Given the description of an element on the screen output the (x, y) to click on. 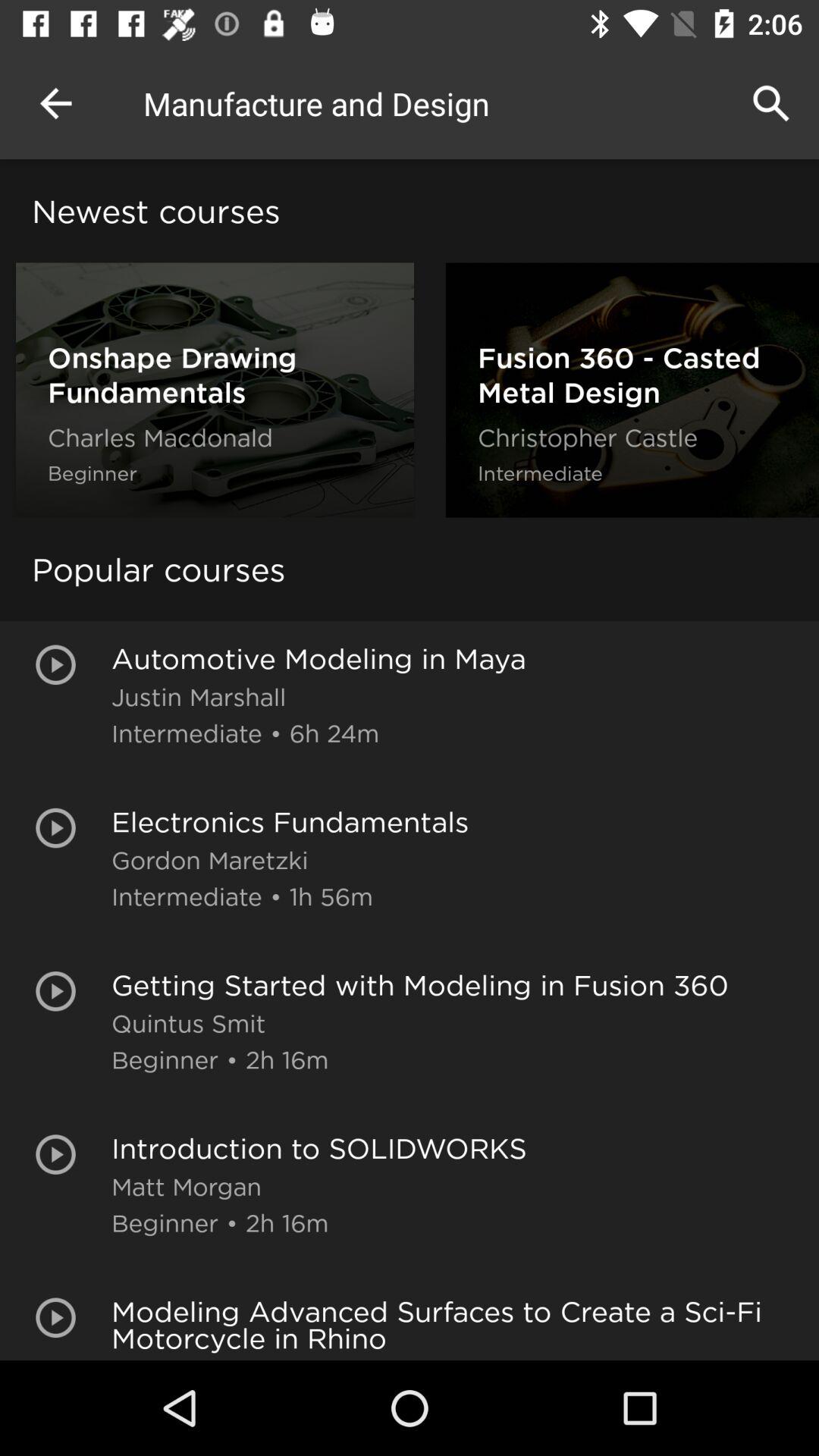
press item above the newest courses icon (55, 103)
